Given the description of an element on the screen output the (x, y) to click on. 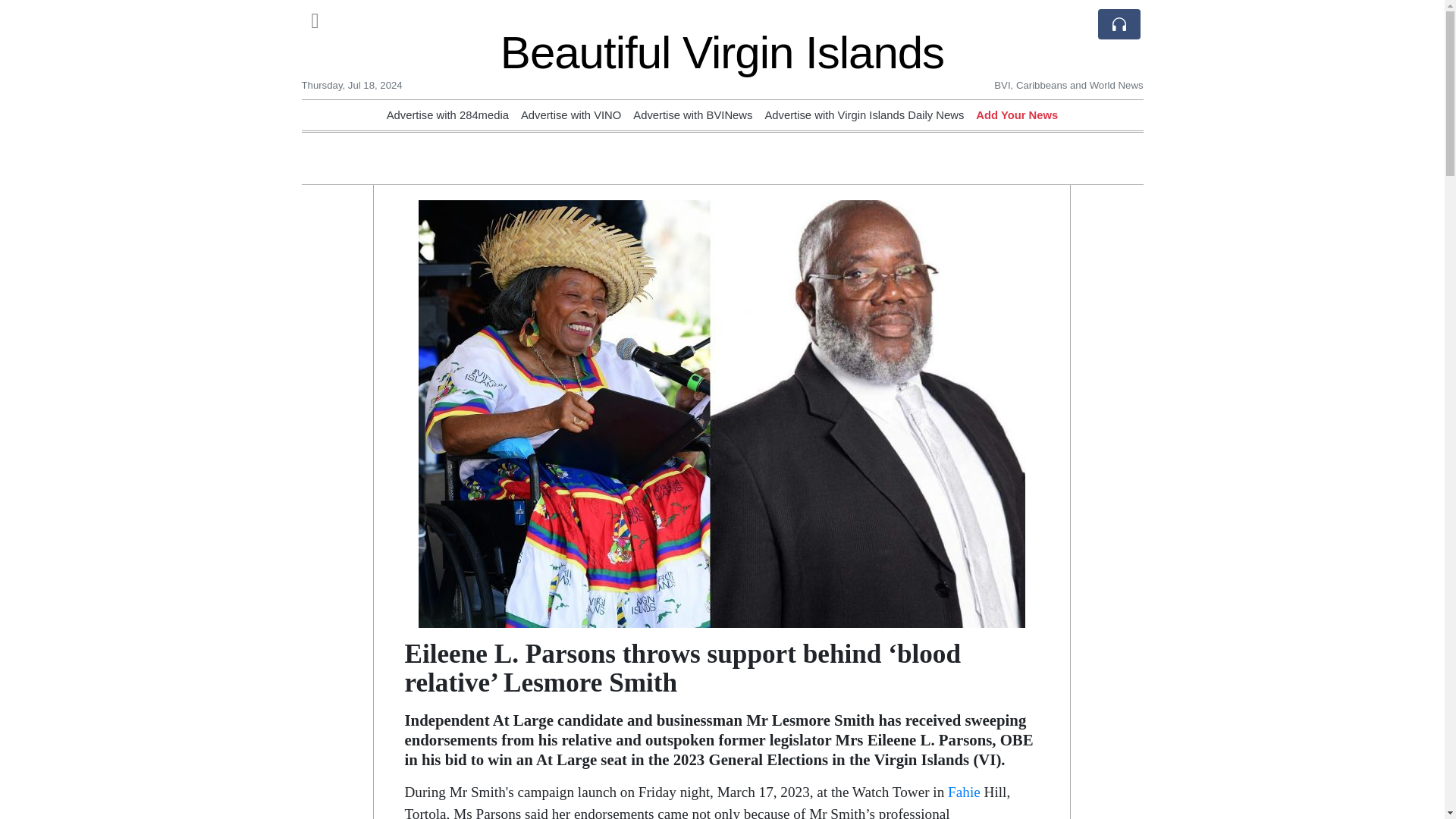
Fahie (963, 791)
Add Your News (1016, 114)
Beautiful Virgin Islands (721, 52)
Advertise with BVINews (692, 114)
Advertise with Virgin Islands Daily News (863, 114)
Advertise with 284media (447, 114)
Advertise with VINO (571, 114)
